Given the description of an element on the screen output the (x, y) to click on. 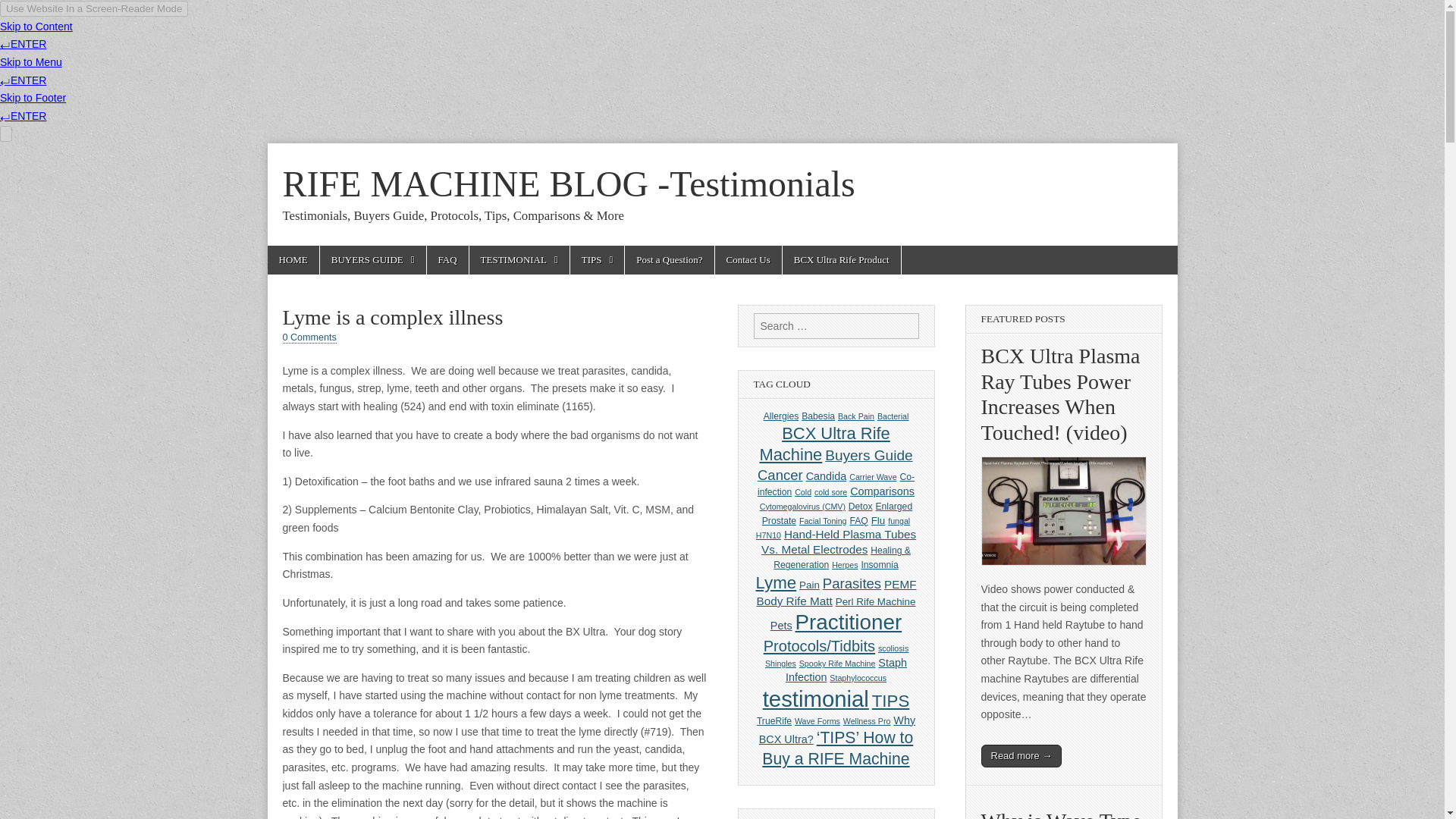
FAQ (447, 259)
HOME (292, 259)
RIFE MACHINE BLOG -Testimonials (568, 183)
BUYERS GUIDE (373, 259)
TESTIMONIAL (518, 259)
RIFE MACHINE BLOG -Testimonials (568, 183)
